Given the description of an element on the screen output the (x, y) to click on. 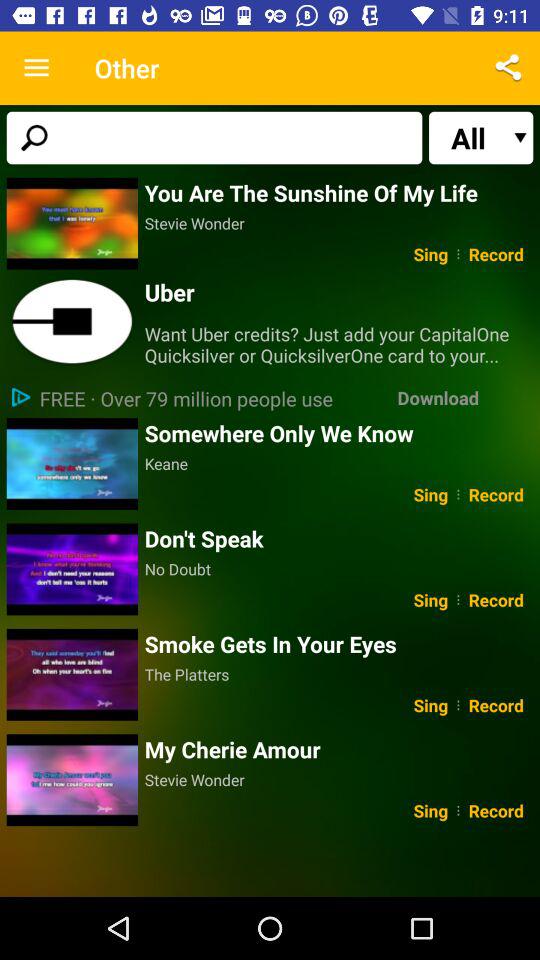
search bar (214, 137)
